Given the description of an element on the screen output the (x, y) to click on. 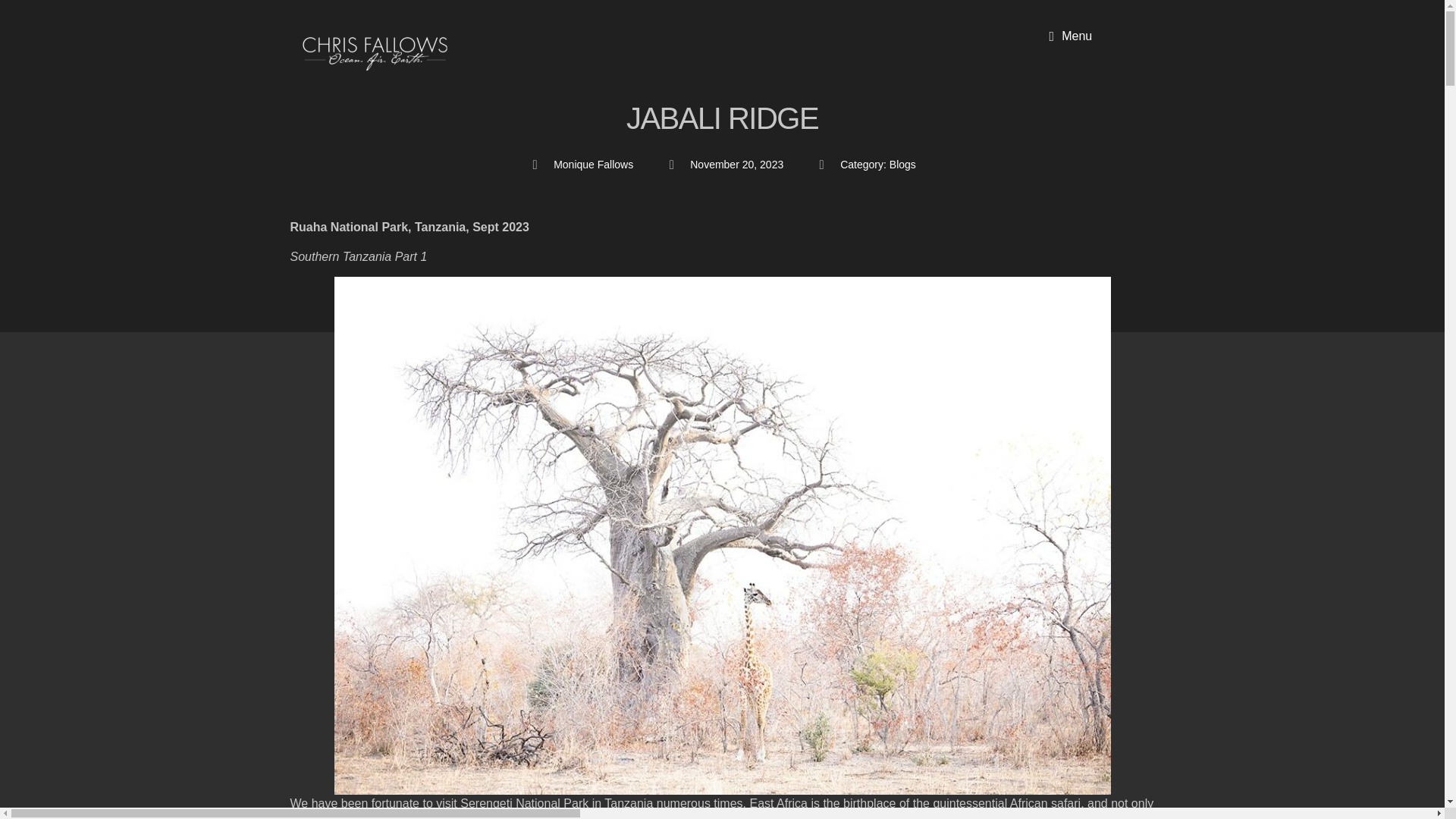
Monique Fallows (580, 164)
Blogs (902, 164)
November 20, 2023 (724, 164)
